Given the description of an element on the screen output the (x, y) to click on. 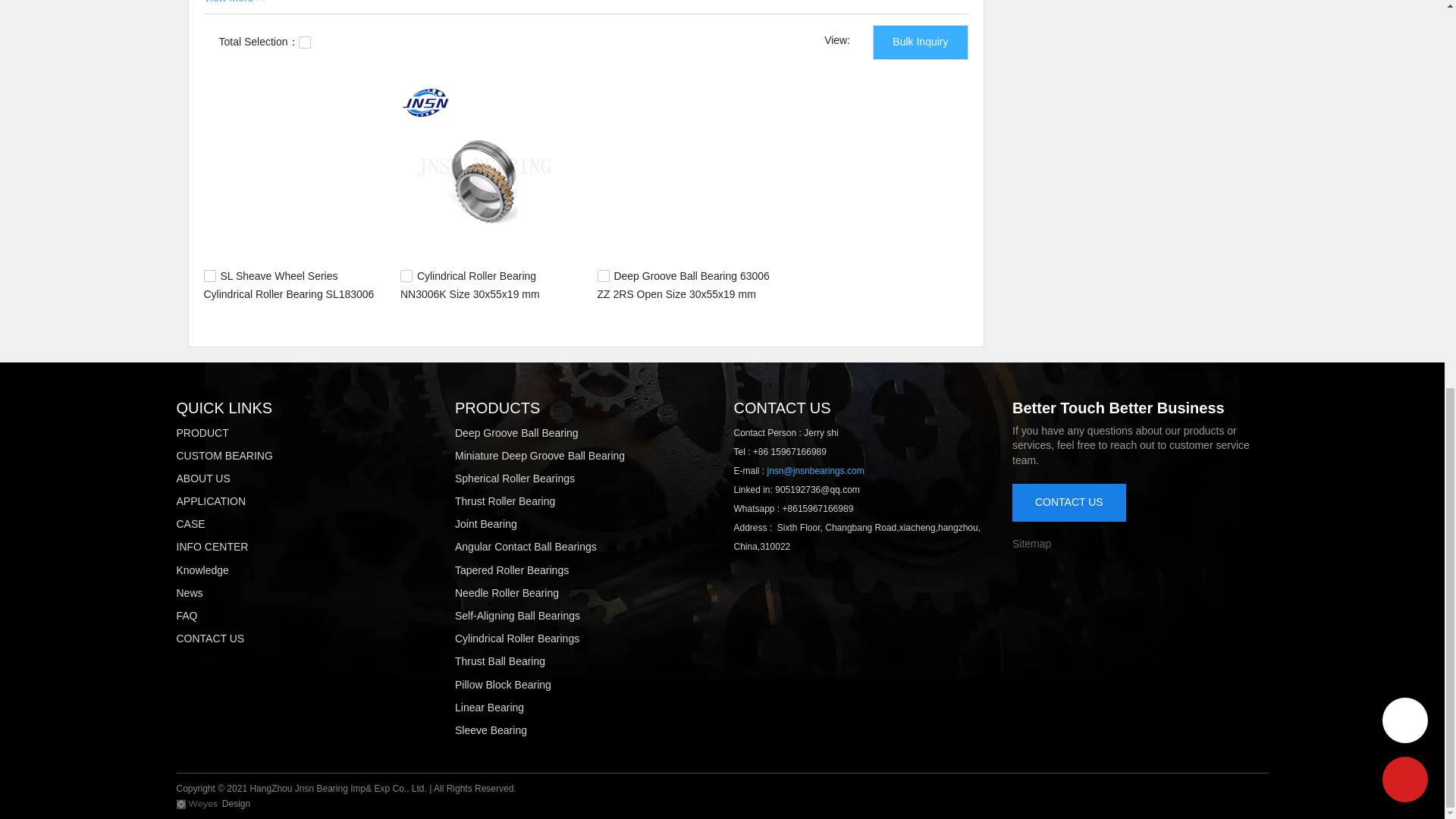
16891 (406, 275)
on (304, 42)
26948 (209, 275)
19521 (603, 275)
